Given the description of an element on the screen output the (x, y) to click on. 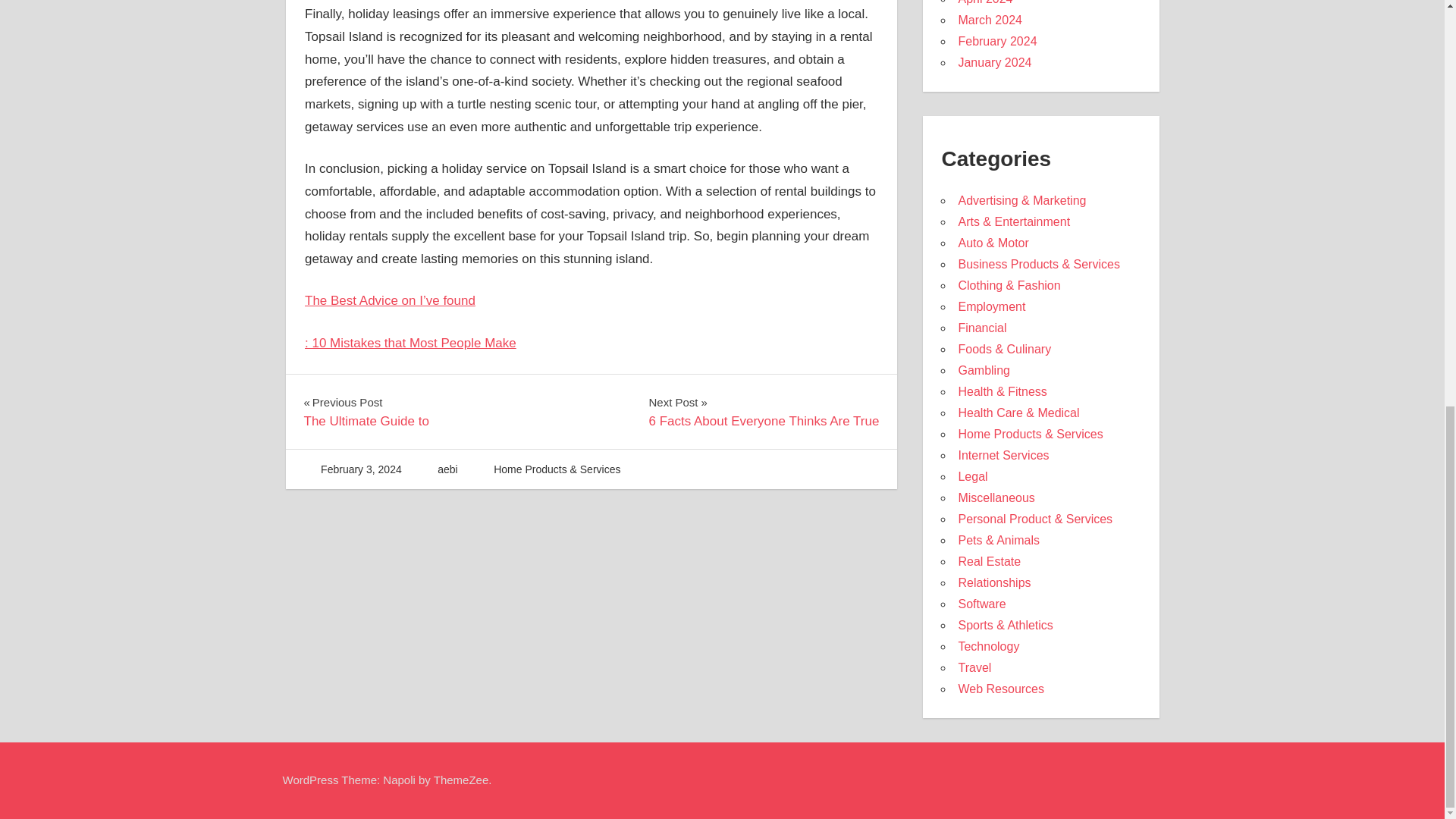
February 3, 2024 (360, 469)
aebi (447, 469)
Legal (972, 476)
February 2024 (997, 41)
Miscellaneous (995, 497)
Financial (982, 327)
Employment (991, 306)
March 2024 (763, 411)
View all posts by aebi (990, 19)
Gambling (447, 469)
Internet Services (365, 411)
January 2024 (983, 369)
April 2024 (1003, 454)
